Given the description of an element on the screen output the (x, y) to click on. 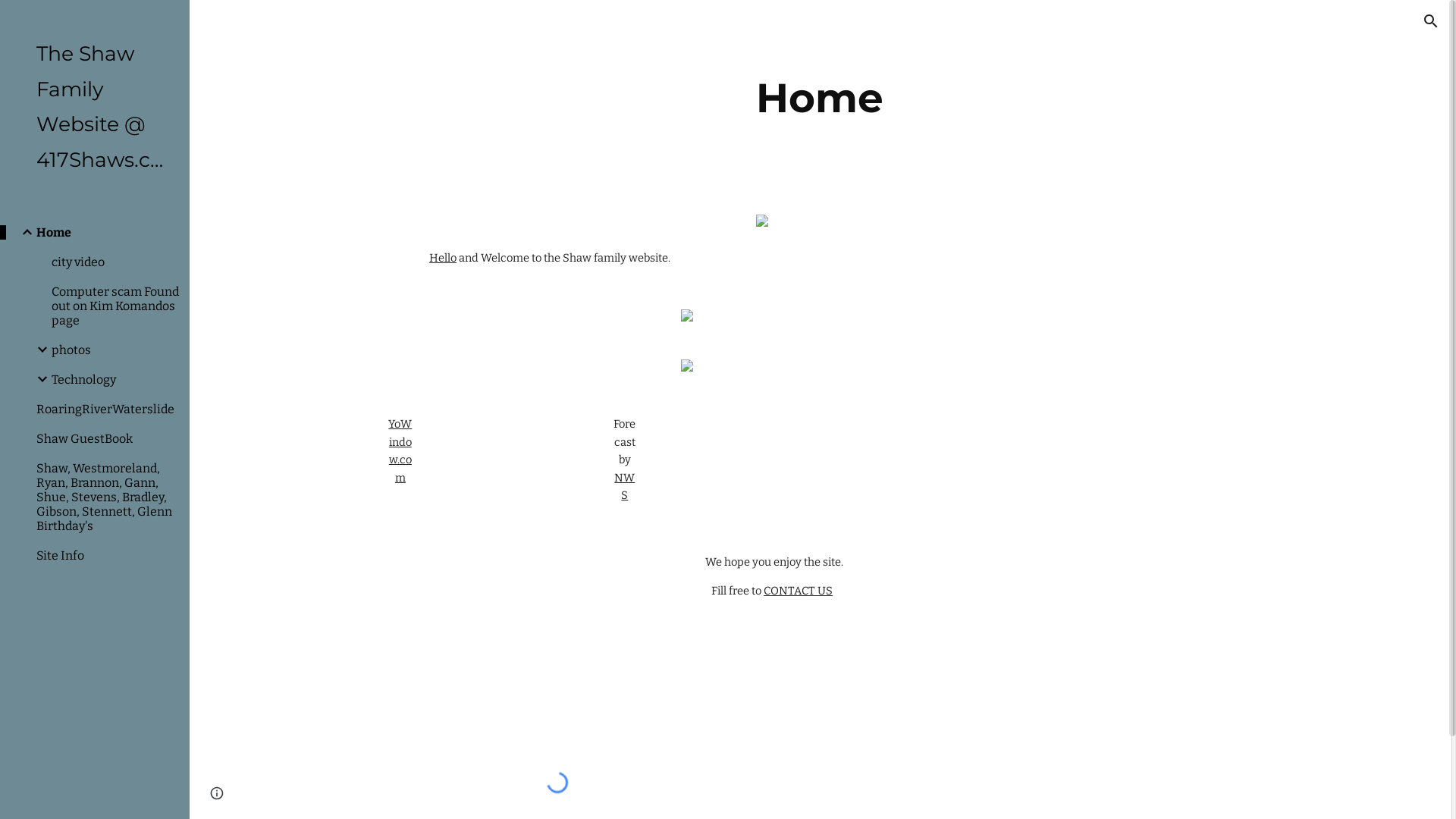
Expand/Collapse Element type: hover (37, 349)
NWS Element type: text (624, 486)
Site Info Element type: text (106, 555)
Shaw GuestBook Element type: text (106, 438)
YoWindow.com Element type: text (399, 450)
Computer scam Found out on Kim Komandos page Element type: text (114, 305)
Technology Element type: text (114, 379)
RoaringRiverWaterslide Element type: text (106, 408)
Home Element type: text (106, 232)
photos Element type: text (114, 349)
Expand/Collapse Element type: hover (22, 231)
The Shaw Family Website @ 417Shaws.com Element type: text (100, 107)
Hello Element type: text (442, 257)
Expand/Collapse Element type: hover (37, 379)
city video Element type: text (114, 261)
CONTACT US Element type: text (797, 590)
